Given the description of an element on the screen output the (x, y) to click on. 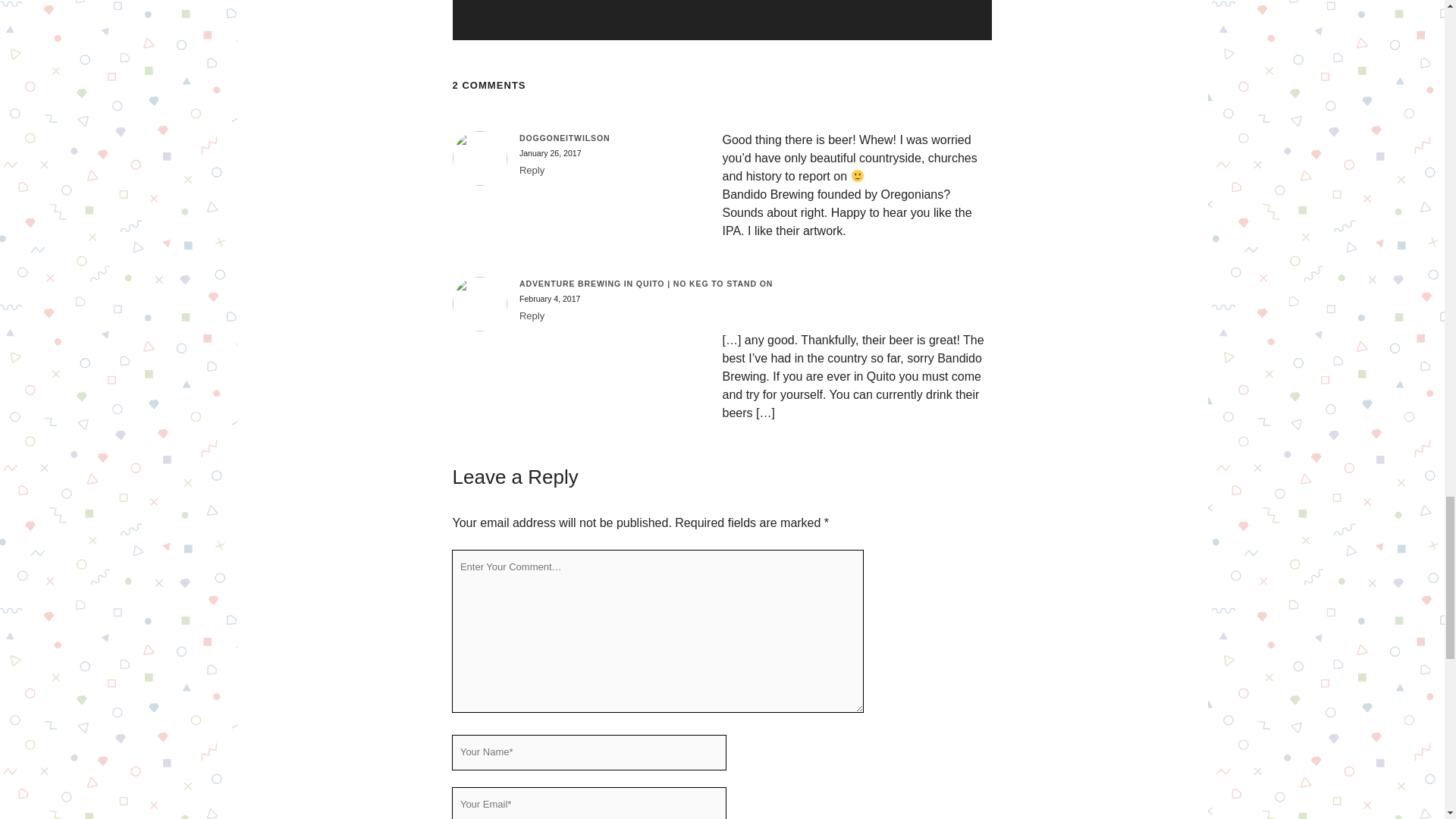
Reply (531, 315)
Reply (531, 170)
DOGGONEITWILSON (564, 137)
